Given the description of an element on the screen output the (x, y) to click on. 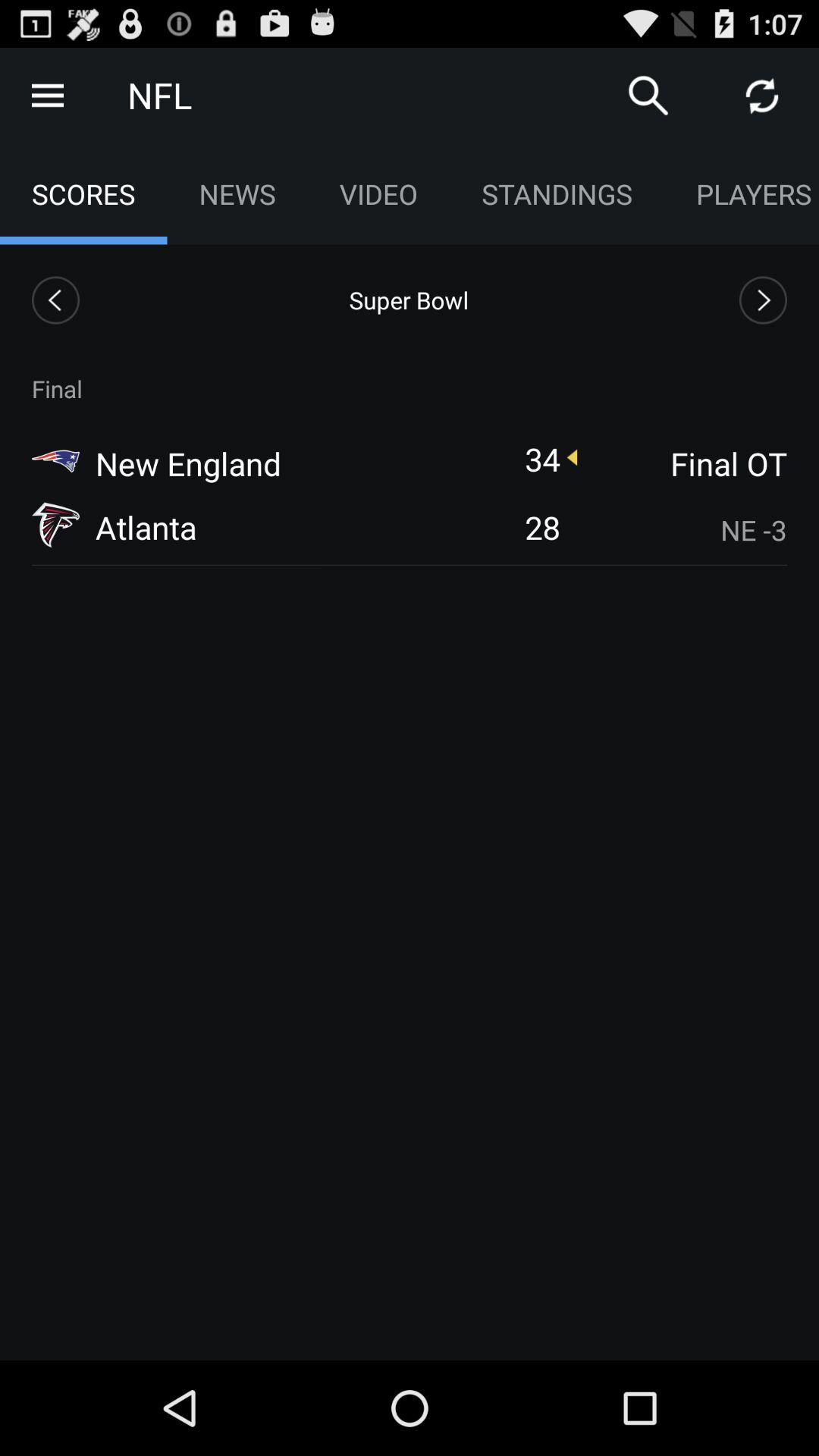
search (648, 95)
